Given the description of an element on the screen output the (x, y) to click on. 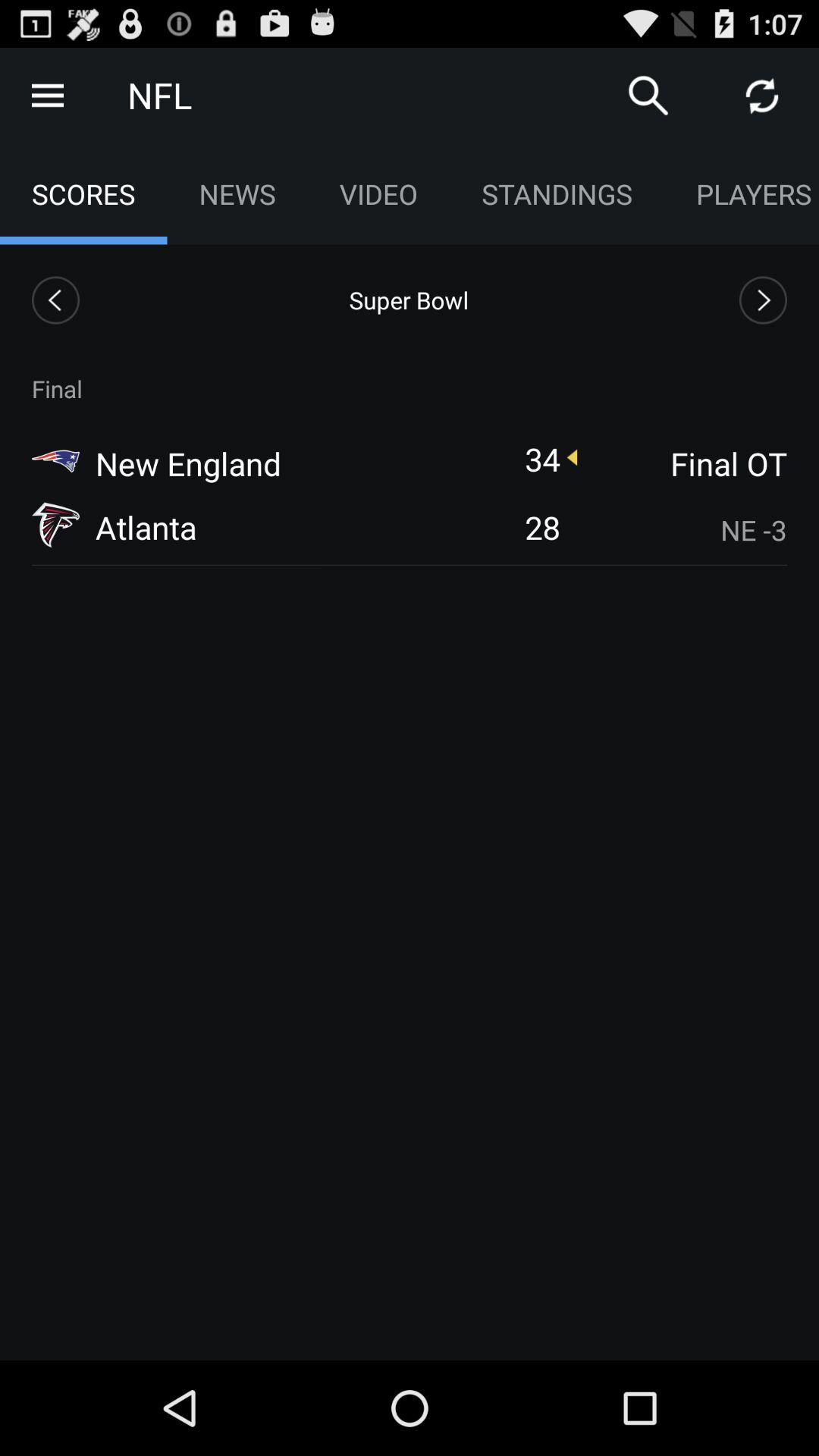
search (648, 95)
